Given the description of an element on the screen output the (x, y) to click on. 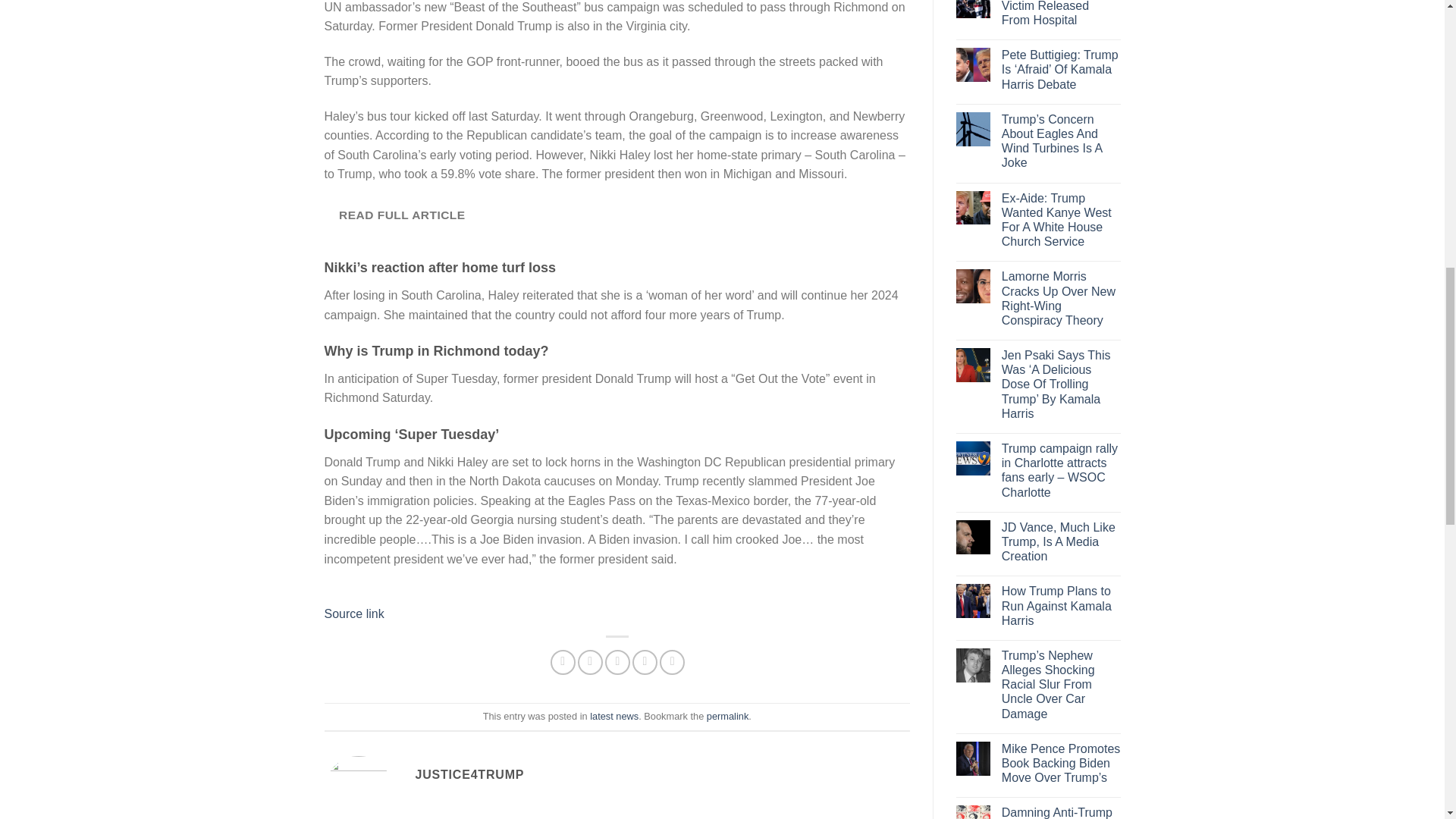
latest news (614, 715)
Pin on Pinterest (644, 662)
permalink (727, 715)
Share on Twitter (590, 662)
Email to a Friend (617, 662)
Share on LinkedIn (671, 662)
Source link (354, 613)
READ FULL ARTICLE (402, 214)
Share on Facebook (562, 662)
